Given the description of an element on the screen output the (x, y) to click on. 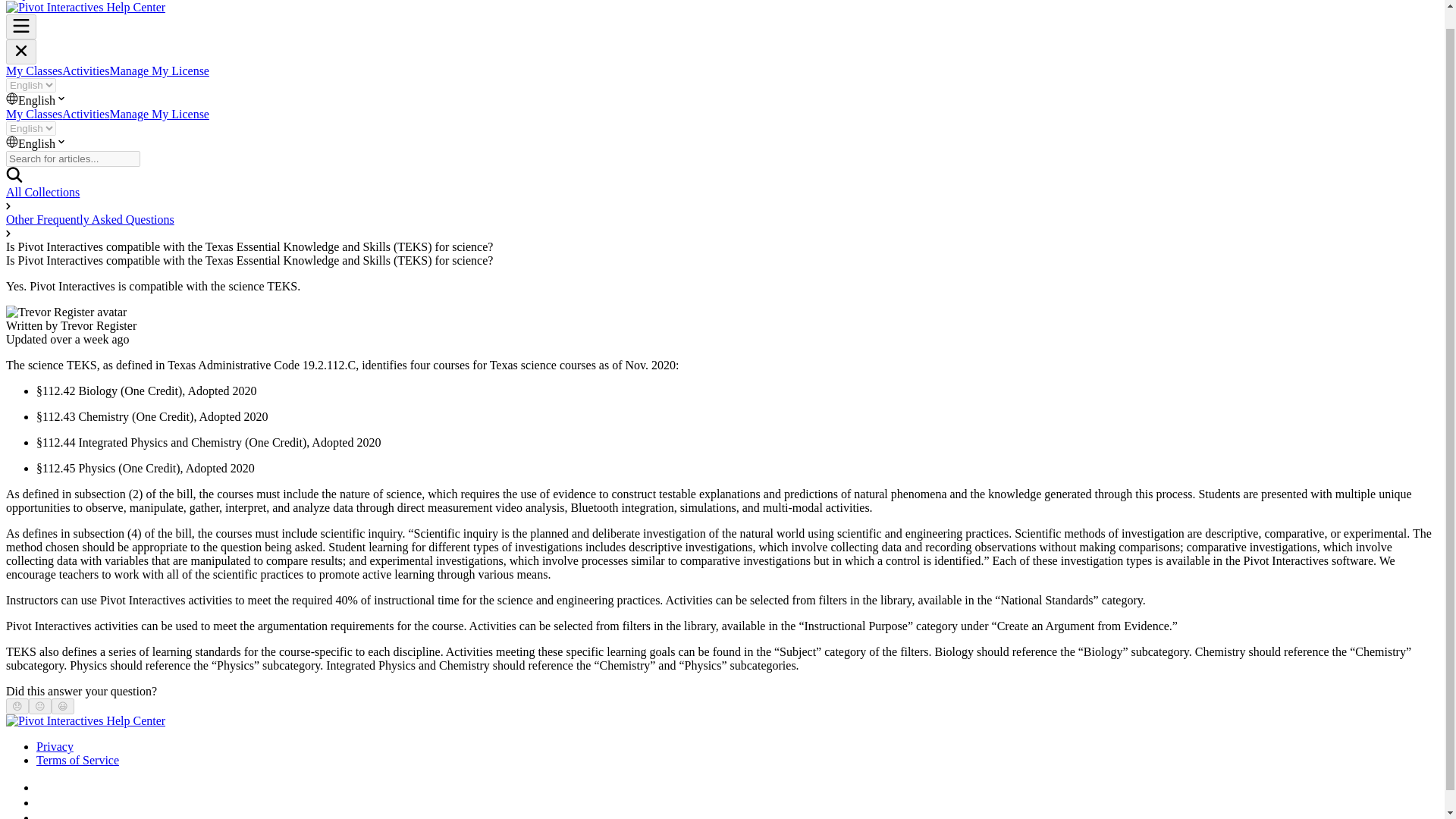
Smiley (63, 706)
Manage My License (159, 70)
Activities (85, 70)
Neutral (39, 706)
Other Frequently Asked Questions (89, 219)
Terms of Service (77, 759)
My Classes (33, 113)
Privacy (55, 746)
Manage My License (159, 113)
Disappointed (17, 706)
